Given the description of an element on the screen output the (x, y) to click on. 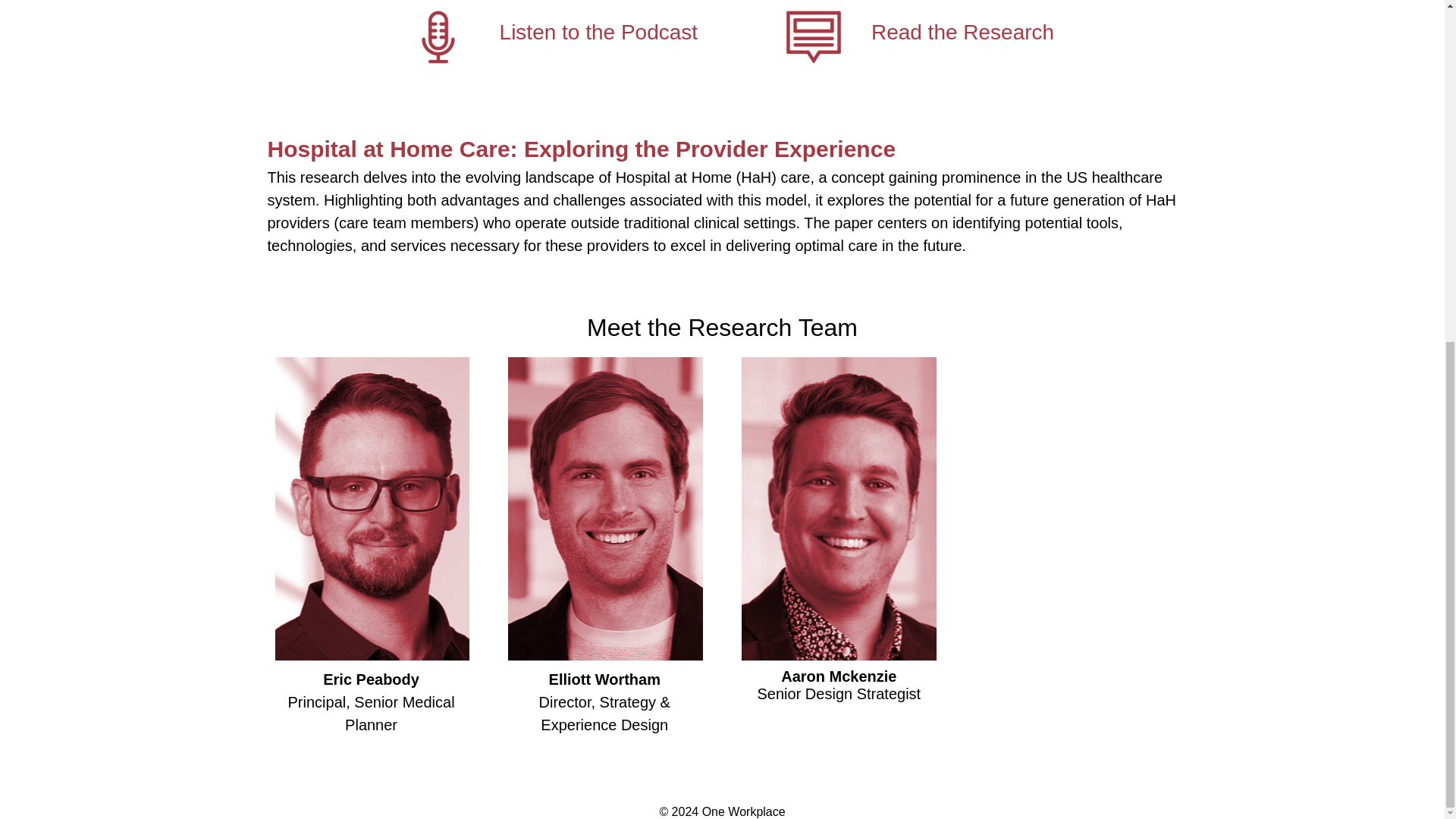
Podcast (438, 37)
Listen to the Podcast (598, 32)
Read the Research (962, 32)
Research (813, 37)
